Given the description of an element on the screen output the (x, y) to click on. 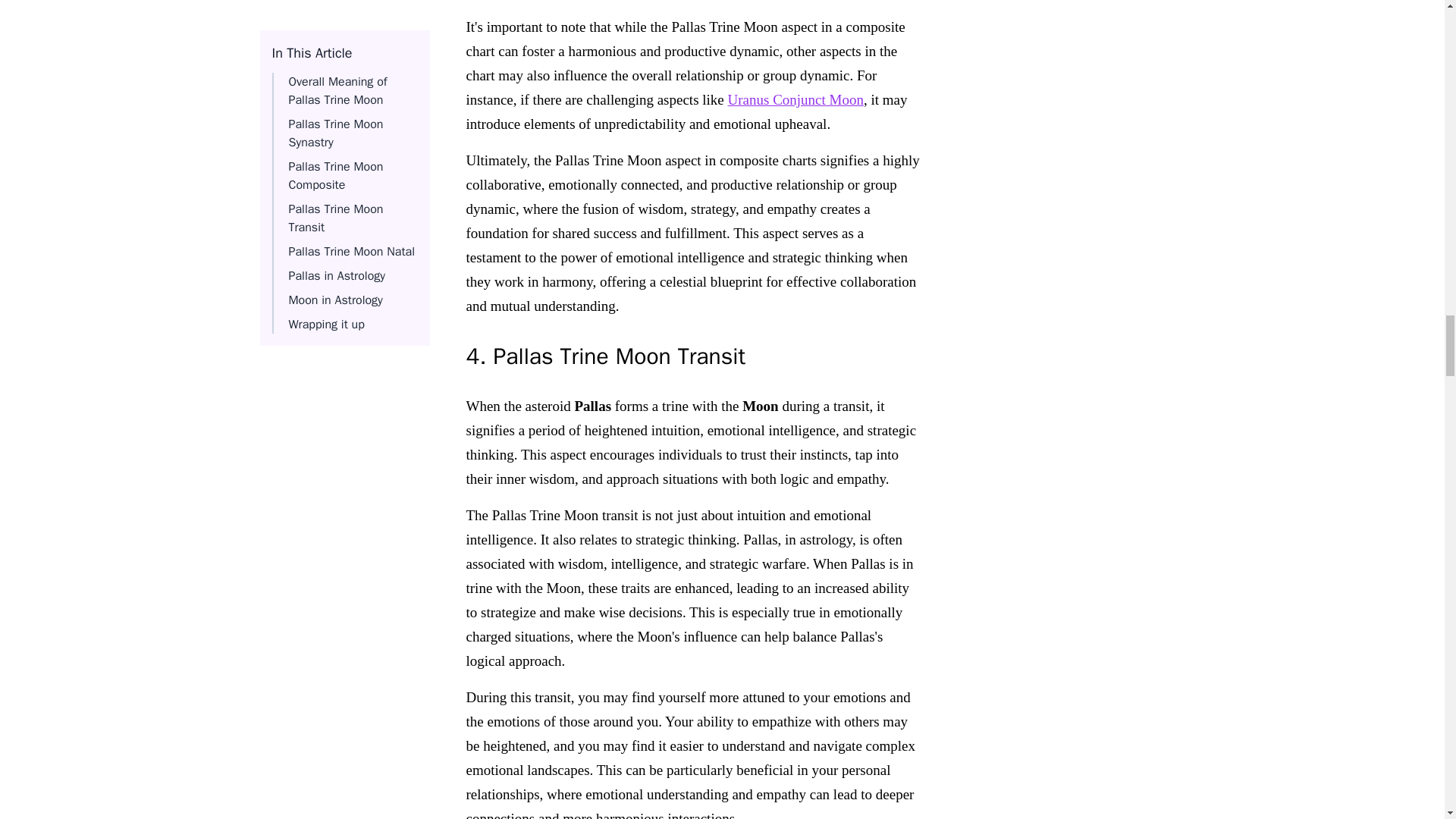
Uranus Conjunct Moon (795, 99)
